Given the description of an element on the screen output the (x, y) to click on. 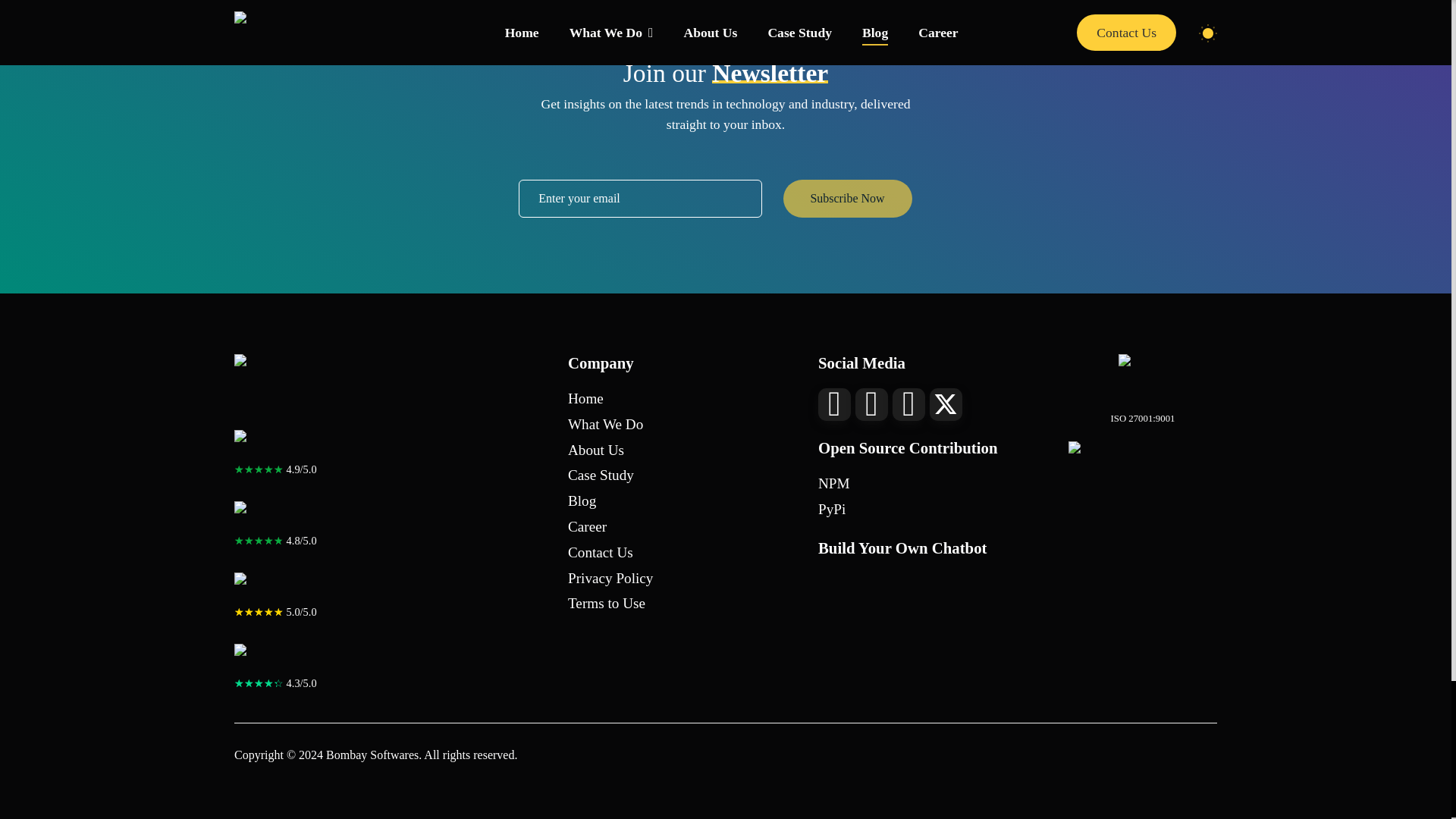
Glassdoor (279, 443)
Google (279, 586)
Ambition Box (279, 515)
Trustpilot (279, 657)
DMCA.com Protection Status (1142, 458)
DMCA Certificate (1142, 377)
